Given the description of an element on the screen output the (x, y) to click on. 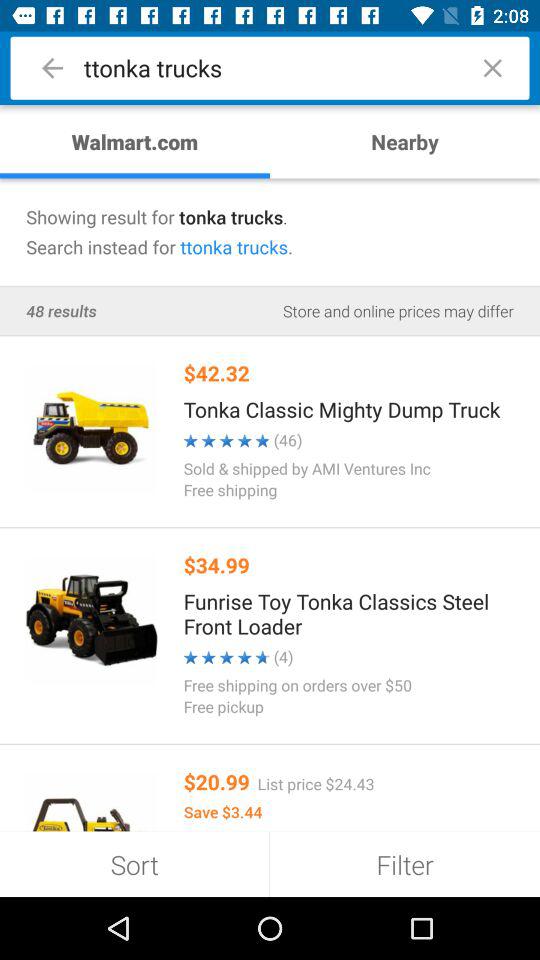
select the text in the search bar (270, 68)
click on back arrow symbol (52, 67)
